Given the description of an element on the screen output the (x, y) to click on. 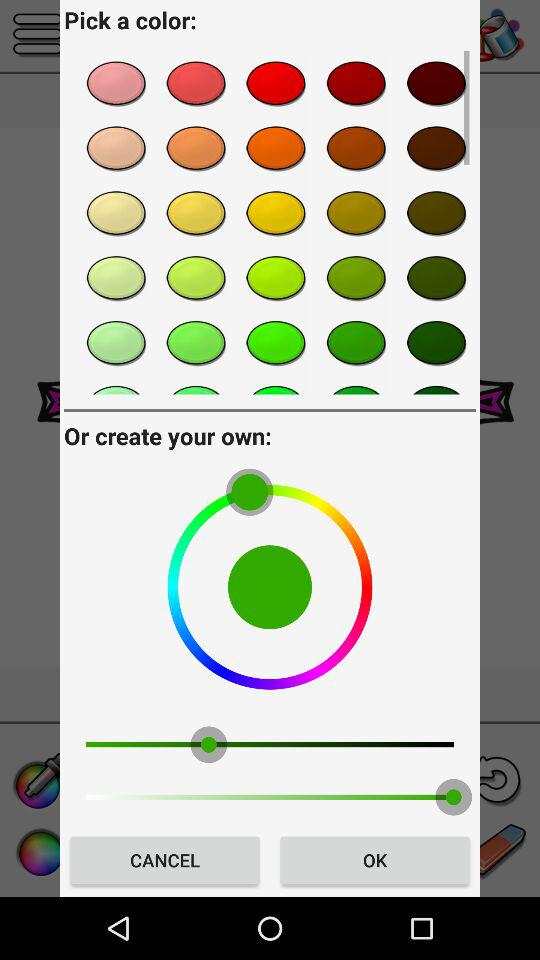
click the icon next to ok (164, 859)
